Given the description of an element on the screen output the (x, y) to click on. 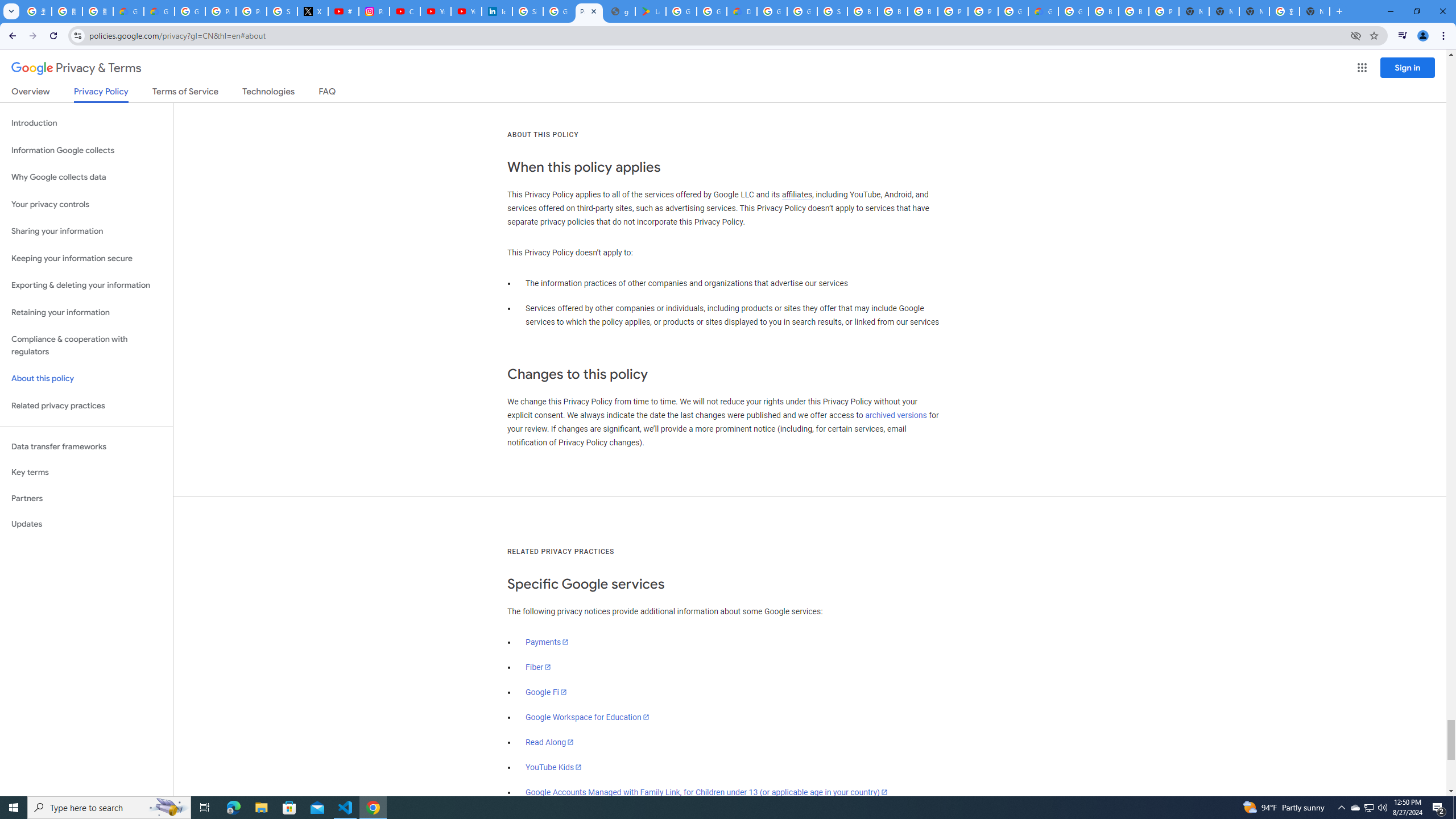
Privacy Help Center - Policies Help (251, 11)
#nbabasketballhighlights - YouTube (343, 11)
Google Cloud Platform (1072, 11)
Sign in - Google Accounts (832, 11)
Google Fi (545, 691)
FAQ (327, 93)
Introduction (86, 122)
Google Cloud Privacy Notice (127, 11)
